Given the description of an element on the screen output the (x, y) to click on. 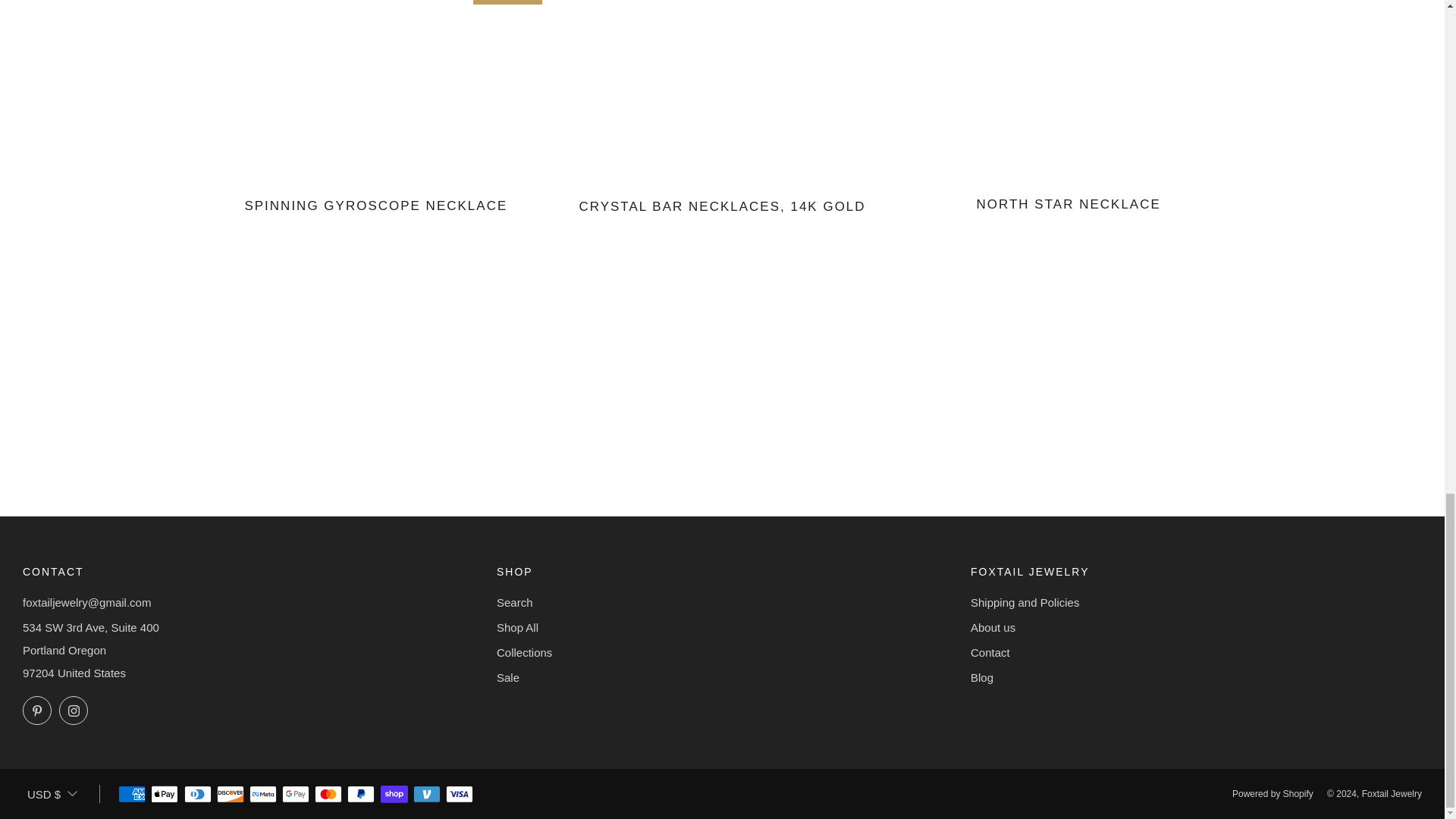
Spinning Gyroscope necklace (376, 213)
North Star Necklace (1068, 212)
Crystal Bar necklaces, 14k gold (721, 214)
